Given the description of an element on the screen output the (x, y) to click on. 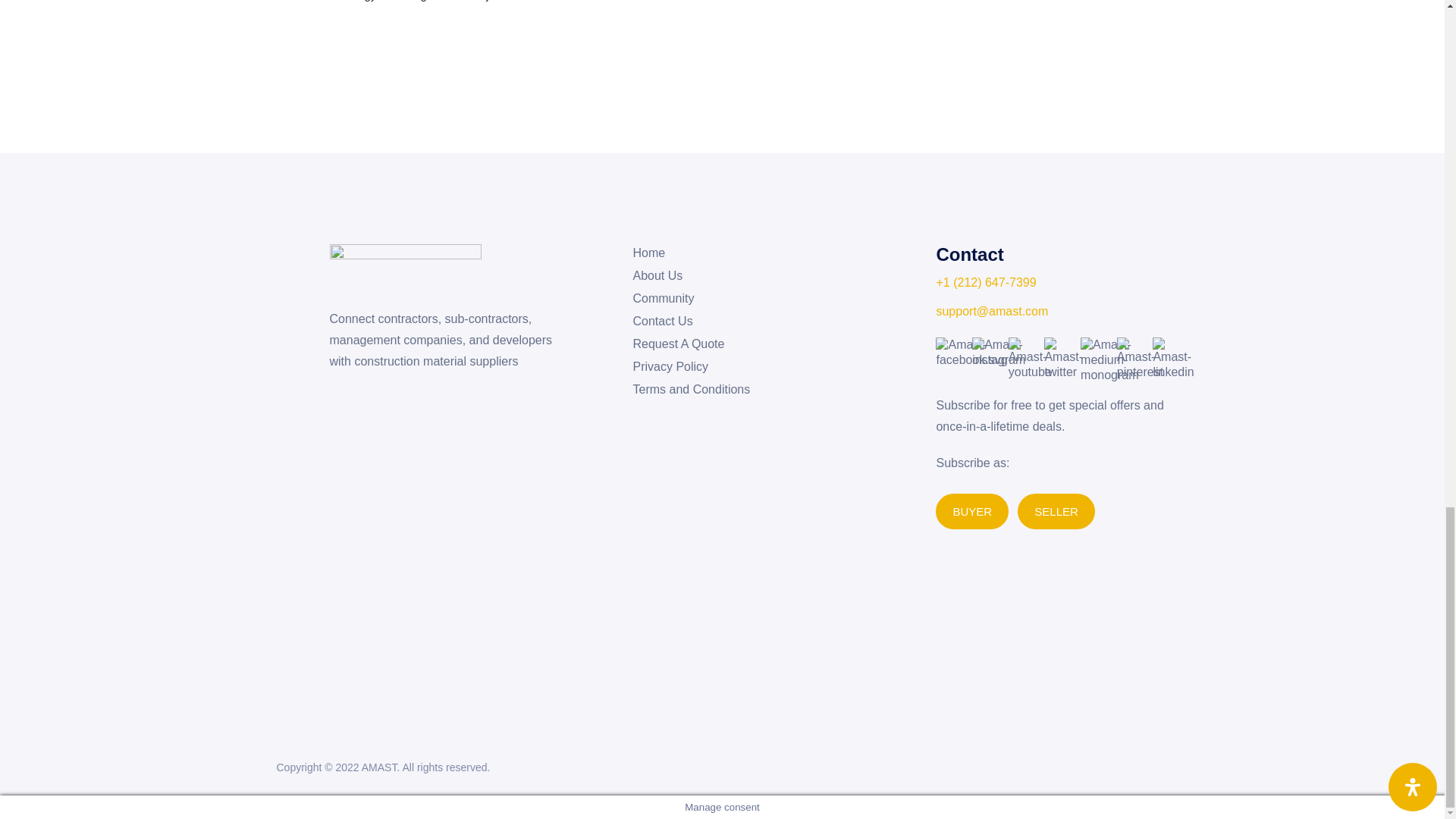
Request A Quote (677, 344)
AMAST (379, 767)
Privacy Policy (669, 366)
SELLER (1055, 511)
Home (648, 253)
Contact Us (662, 321)
About Us (656, 275)
Community (662, 298)
BUYER (972, 511)
Terms and Conditions (690, 389)
